Given the description of an element on the screen output the (x, y) to click on. 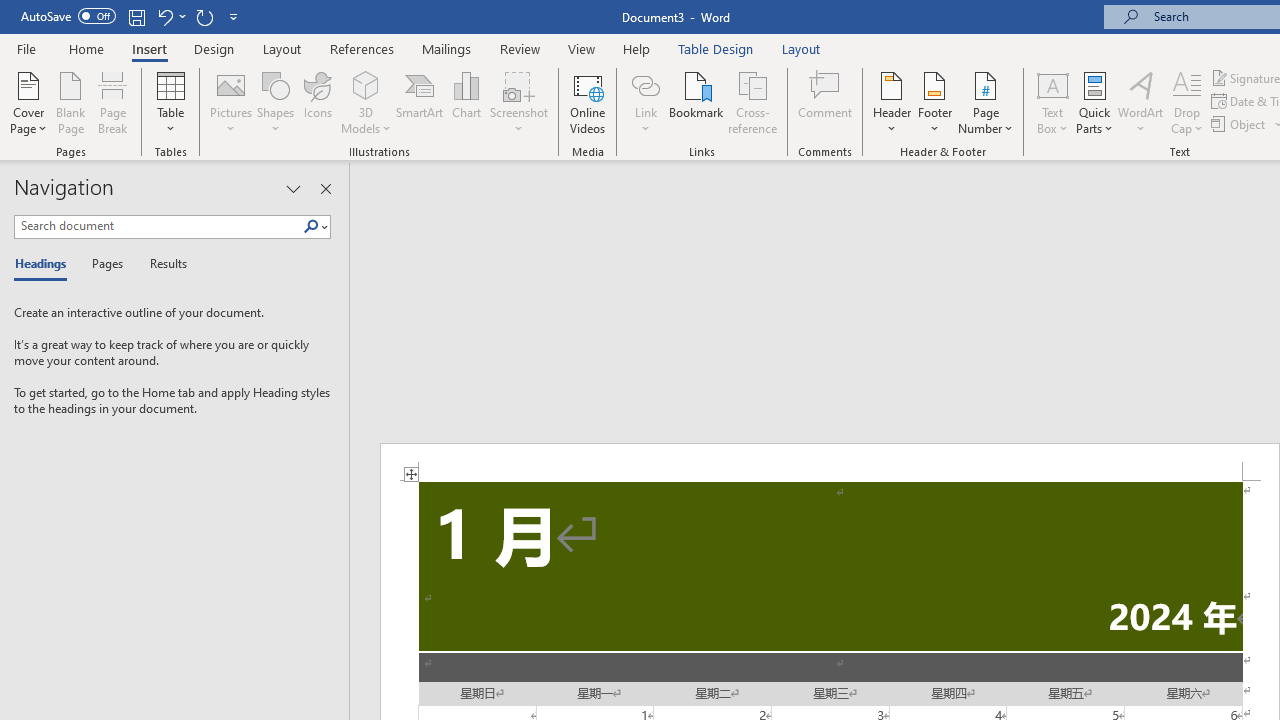
Search (315, 227)
Footer (934, 102)
References (362, 48)
Header (891, 102)
Pictures (230, 102)
Drop Cap (1187, 102)
Table Design (715, 48)
Search document (157, 226)
Page Break (113, 102)
Page Number (986, 102)
Mailings (447, 48)
Undo Increase Indent (164, 15)
Pages (105, 264)
Close pane (325, 188)
Table (170, 102)
